Given the description of an element on the screen output the (x, y) to click on. 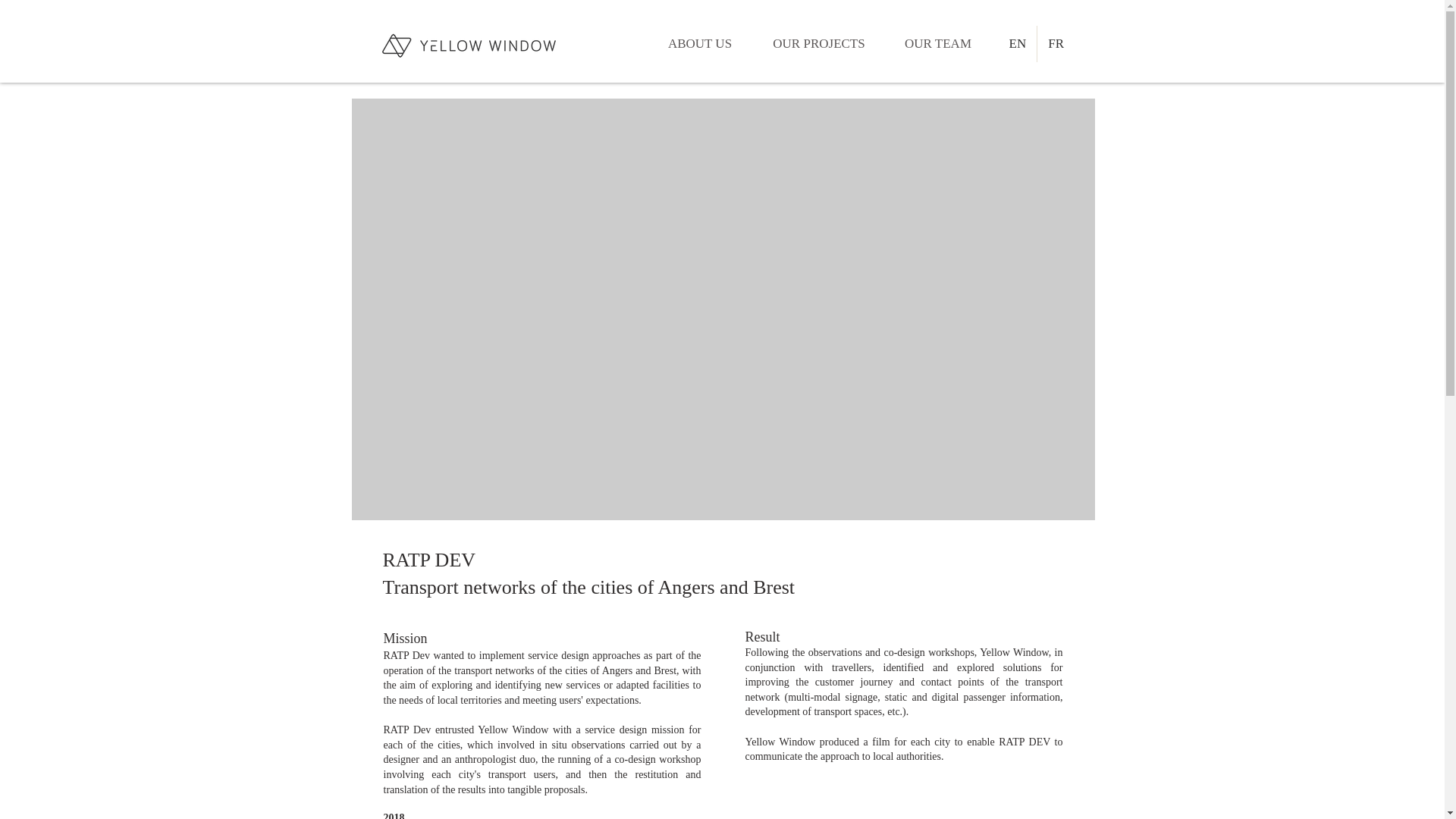
OUR TEAM (938, 44)
FR (1055, 43)
ABOUT US (699, 44)
EN (1016, 43)
OUR PROJECTS (818, 44)
